Given the description of an element on the screen output the (x, y) to click on. 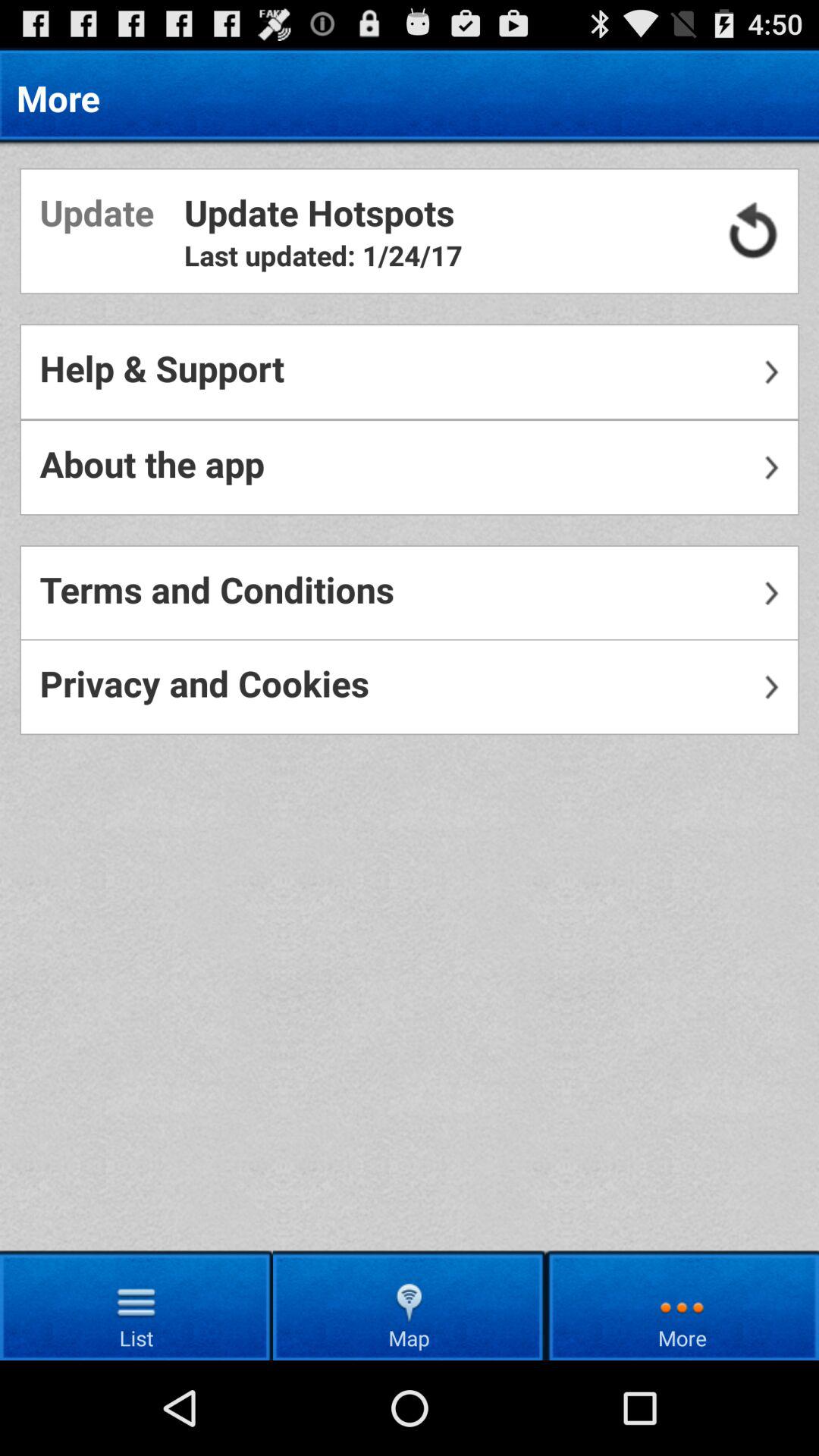
press icon below help & support icon (409, 467)
